Given the description of an element on the screen output the (x, y) to click on. 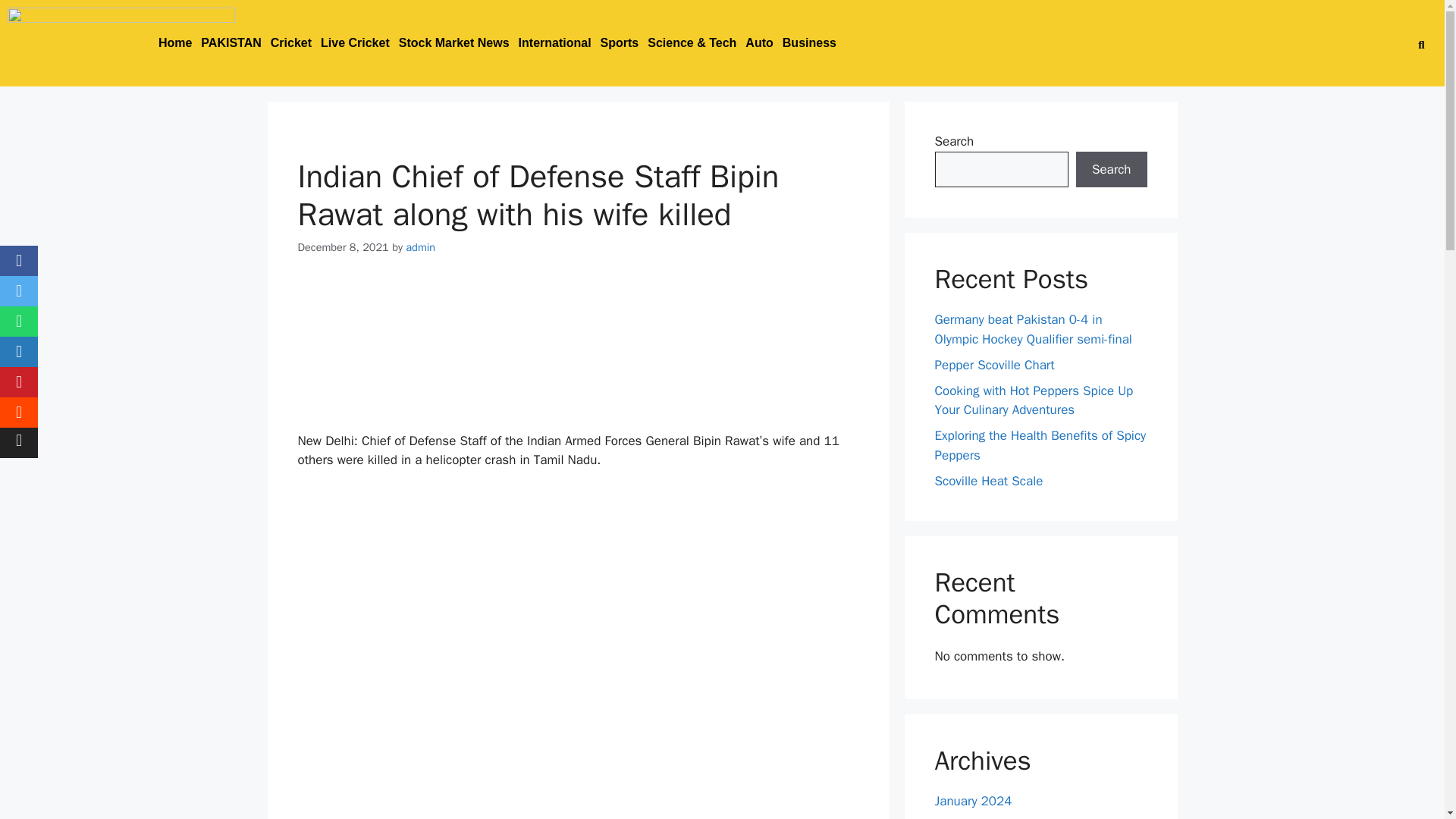
Home (175, 42)
admin (420, 246)
Search (1415, 44)
PAKISTAN (230, 42)
Pepper Scoville Chart (994, 364)
International (554, 42)
Sports (619, 42)
January 2024 (972, 801)
View all posts by admin (420, 246)
Advertisement (583, 723)
Exploring the Health Benefits of Spicy Peppers (1039, 445)
Search (1111, 169)
Advertisement (583, 353)
Cooking with Hot Peppers Spice Up Your Culinary Adventures (1033, 399)
Cricket (290, 42)
